Given the description of an element on the screen output the (x, y) to click on. 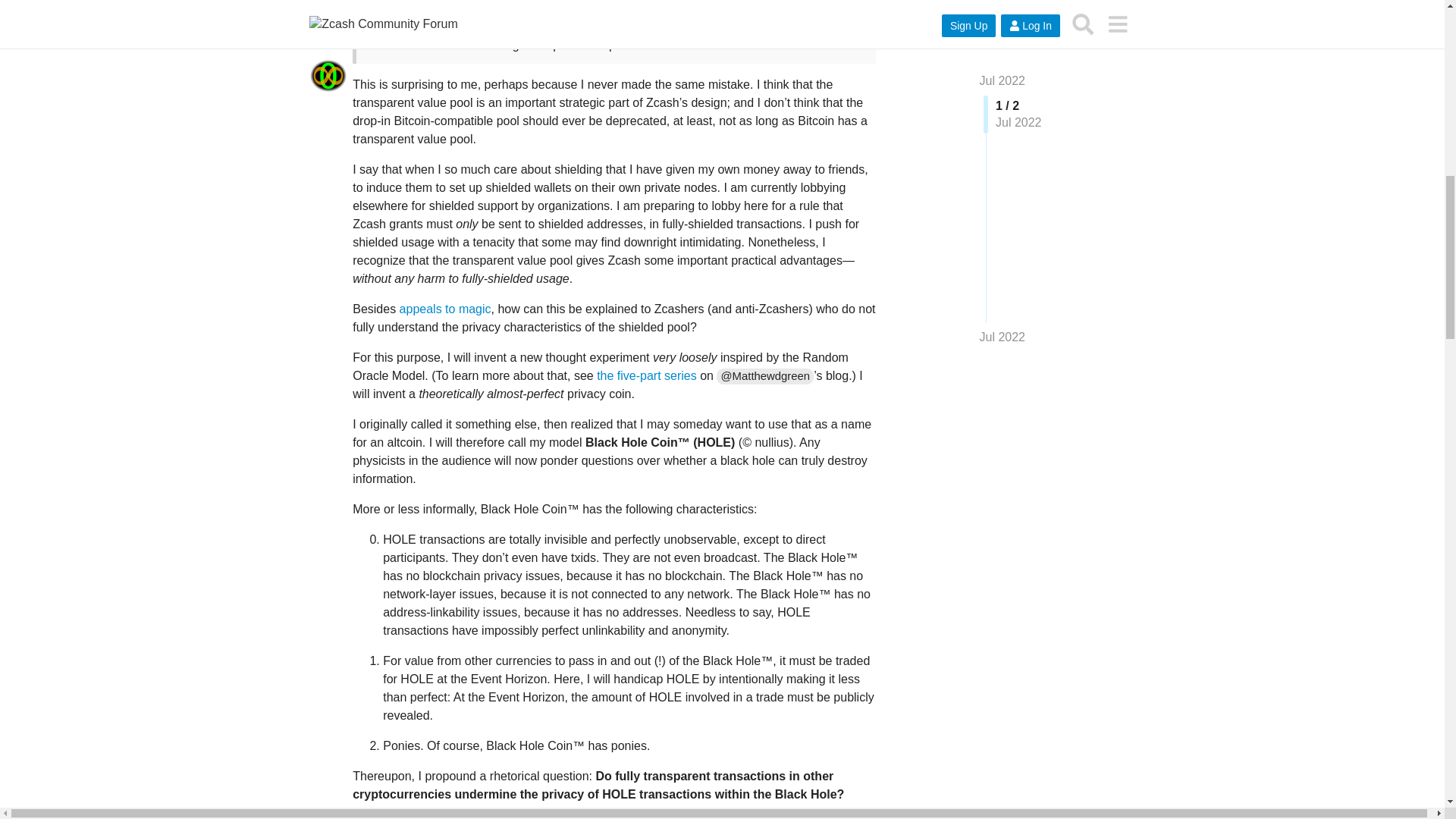
appeals to magic (445, 308)
the five-part series (646, 375)
